Given the description of an element on the screen output the (x, y) to click on. 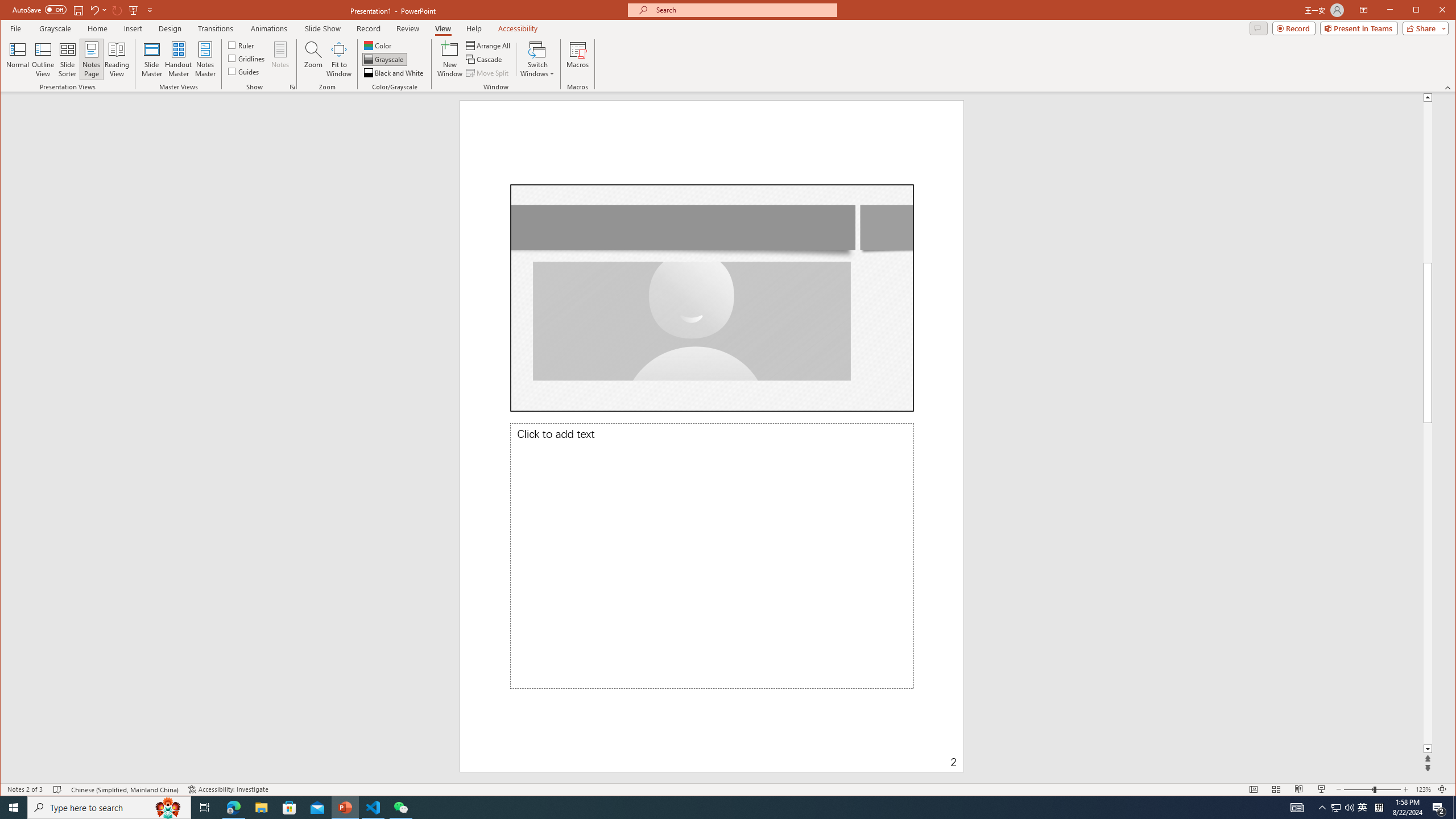
Zoom 123% (1422, 789)
Gridlines (246, 57)
Cascade (484, 59)
